Given the description of an element on the screen output the (x, y) to click on. 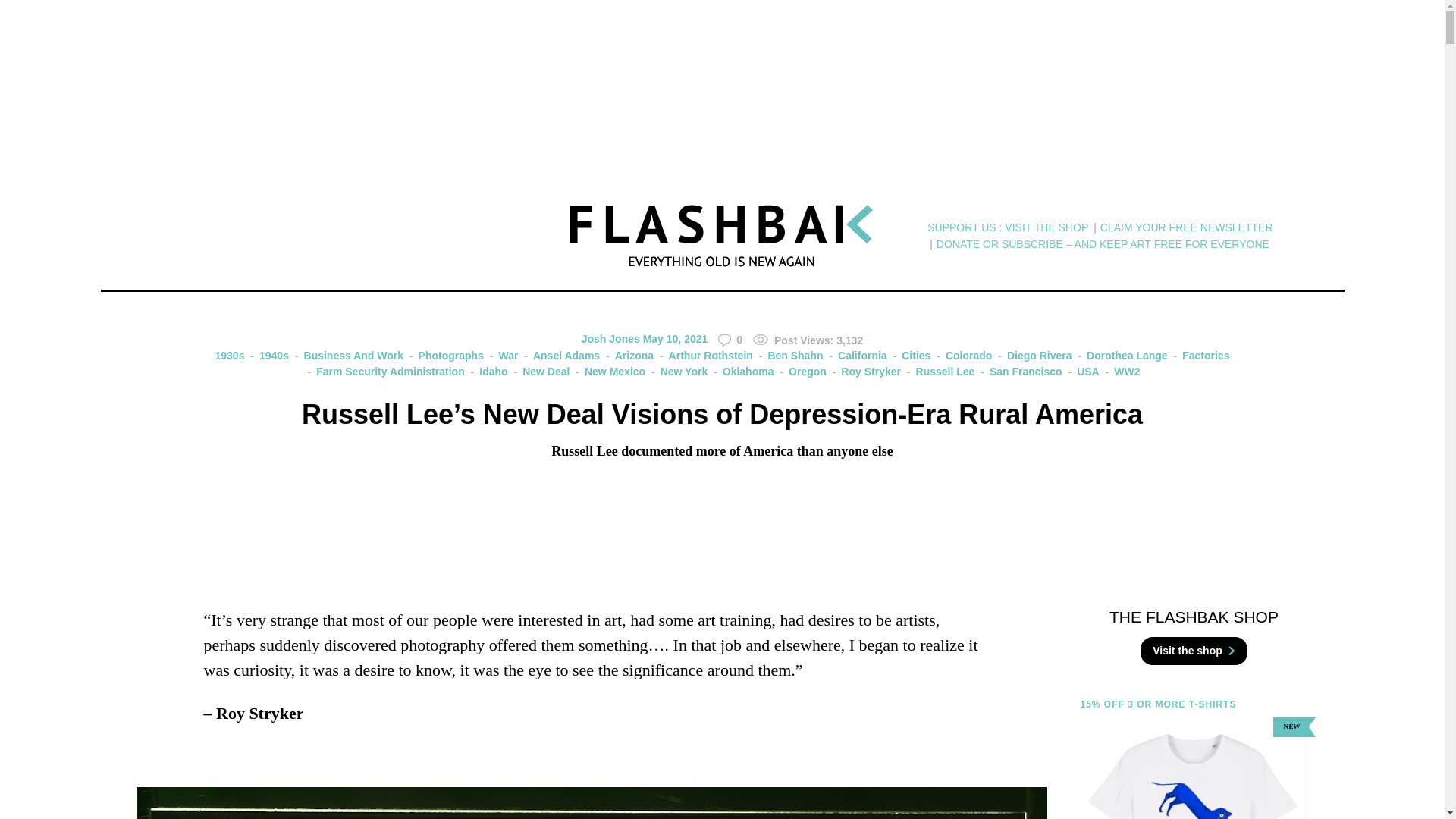
Arizona (627, 355)
Diego Rivera (1032, 355)
Photographs (444, 355)
Dorothea Lange (1120, 355)
1940s (267, 355)
May 10, 2021 (675, 338)
1930s (229, 355)
Business And Work (347, 355)
Colorado (962, 355)
Ansel Adams (560, 355)
Cities (910, 355)
Factories (1200, 355)
CLAIM YOUR FREE NEWSLETTER (1186, 227)
California (855, 355)
Posts by Josh Jones (610, 338)
